Given the description of an element on the screen output the (x, y) to click on. 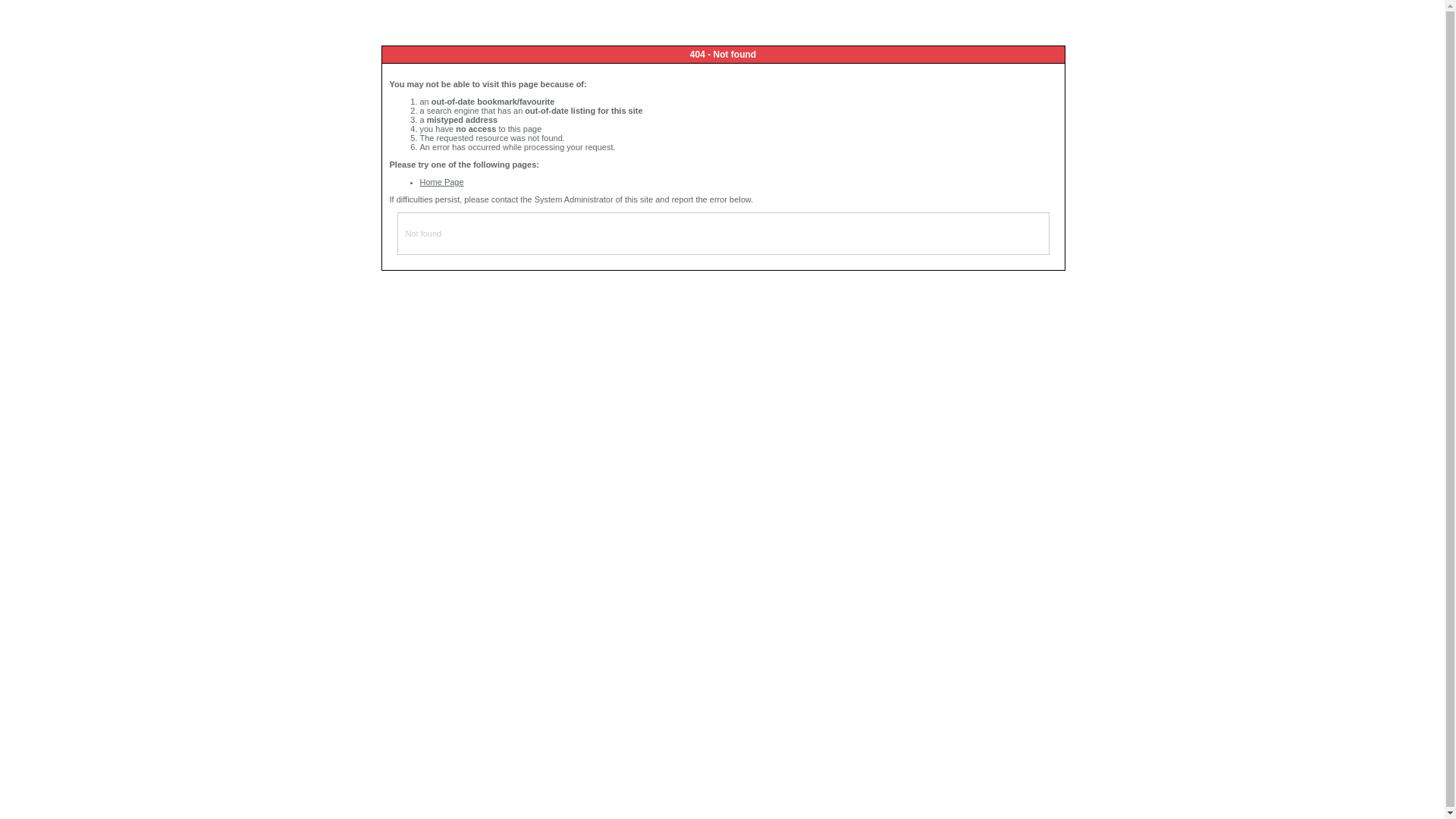
Home Page Element type: text (442, 181)
